Given the description of an element on the screen output the (x, y) to click on. 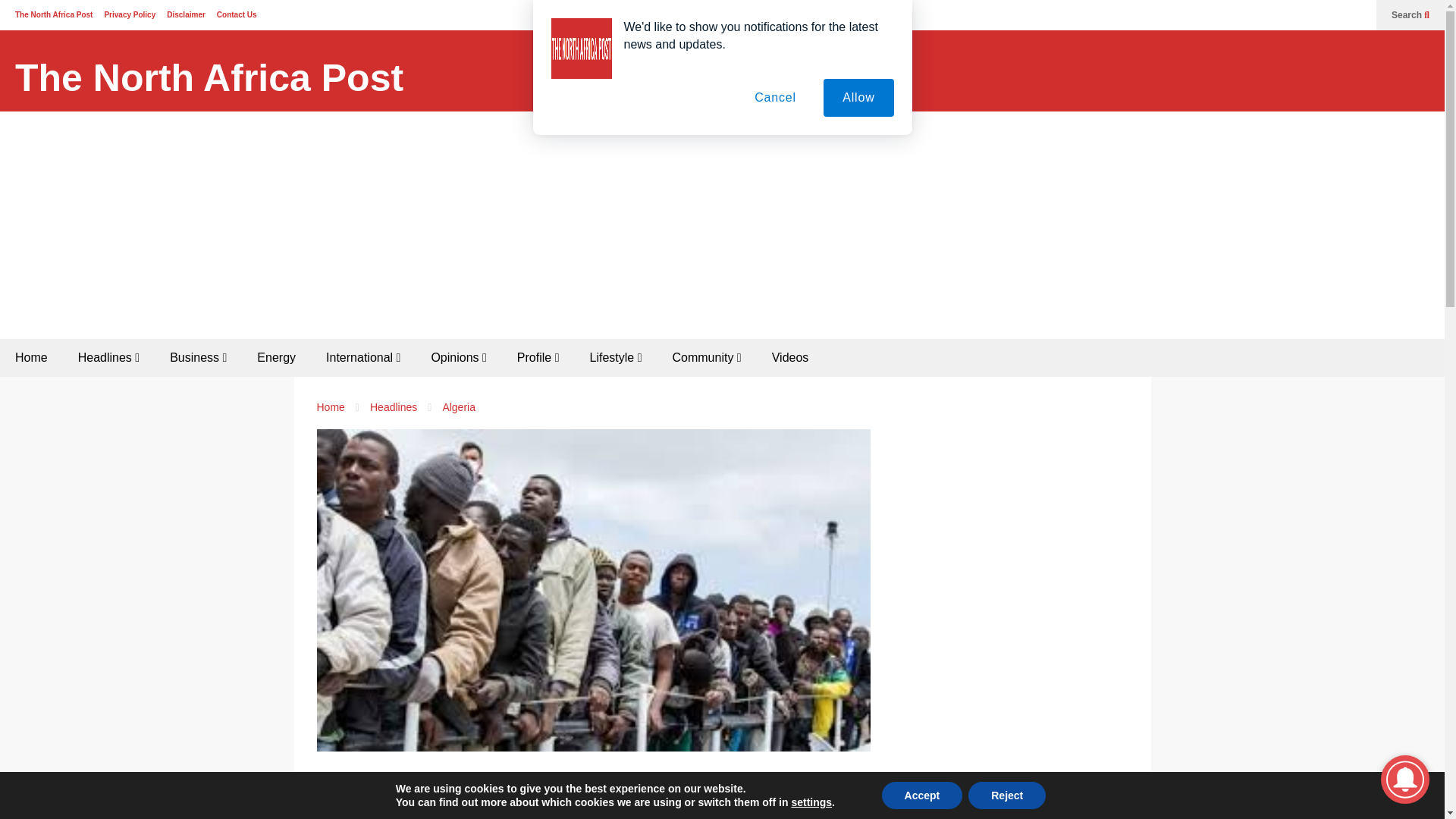
Home (31, 357)
Energy (276, 357)
International (362, 357)
Community (705, 357)
Videos (790, 357)
Disclaimer (186, 14)
Profile (538, 357)
The North Africa Post (208, 78)
The North Africa Post (208, 78)
Opinions (457, 357)
Lifestyle (616, 357)
Headlines (108, 357)
Contact Us (236, 14)
